Given the description of an element on the screen output the (x, y) to click on. 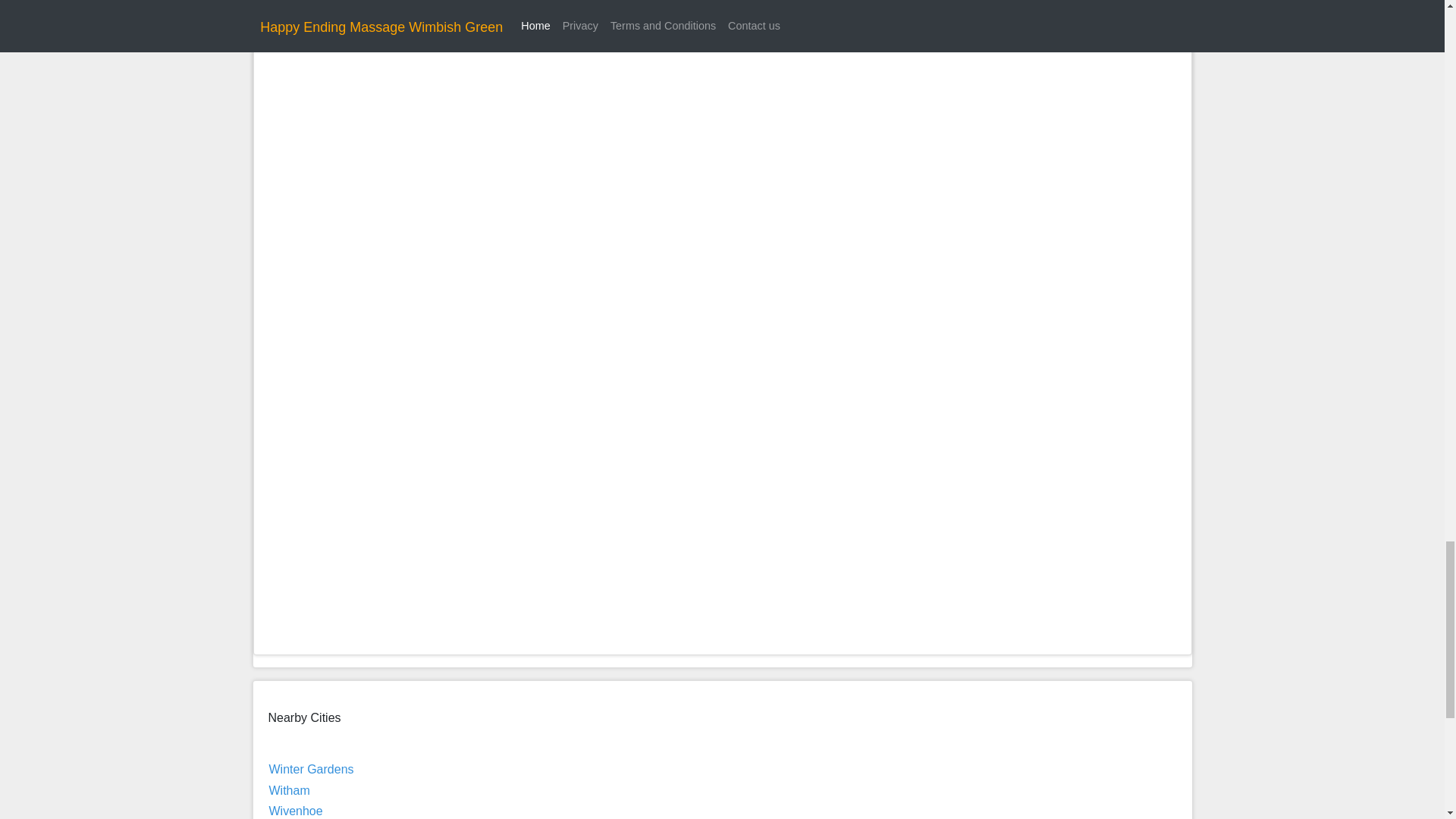
Winter Gardens (310, 768)
Witham (287, 789)
Wivenhoe (294, 810)
